Given the description of an element on the screen output the (x, y) to click on. 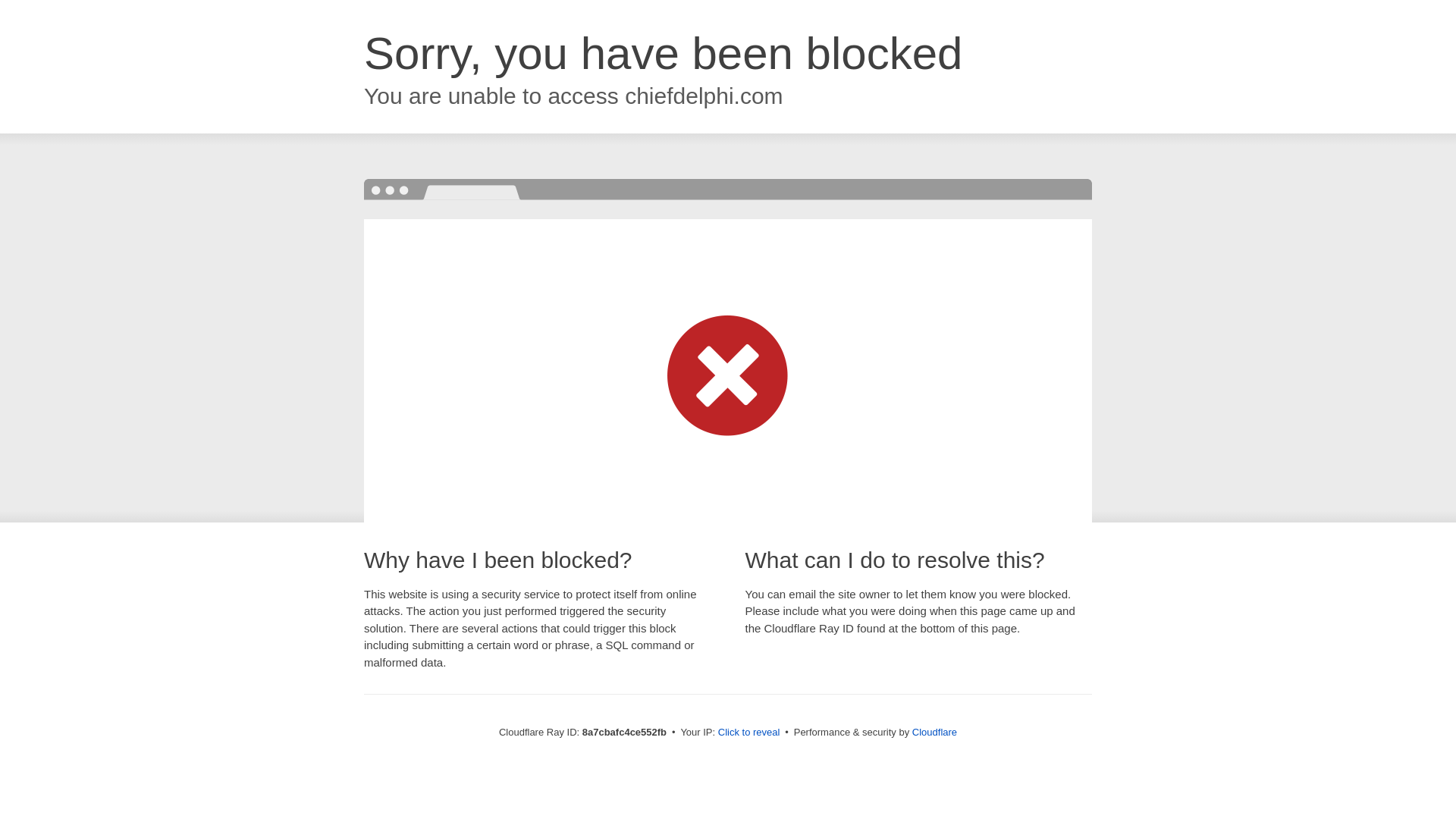
Cloudflare (934, 731)
Click to reveal (748, 732)
